Given the description of an element on the screen output the (x, y) to click on. 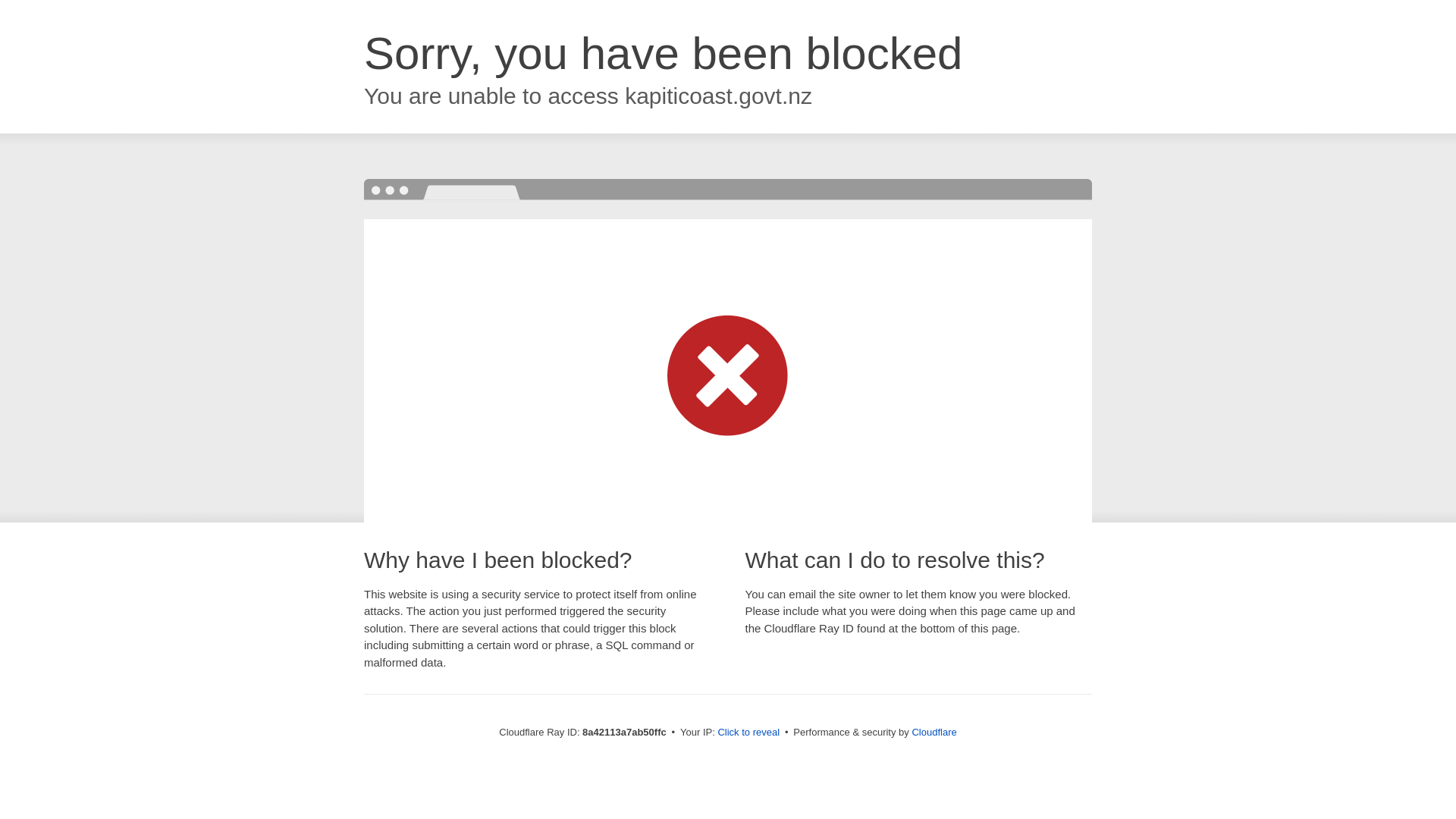
Click to reveal (747, 732)
Cloudflare (933, 731)
